Given the description of an element on the screen output the (x, y) to click on. 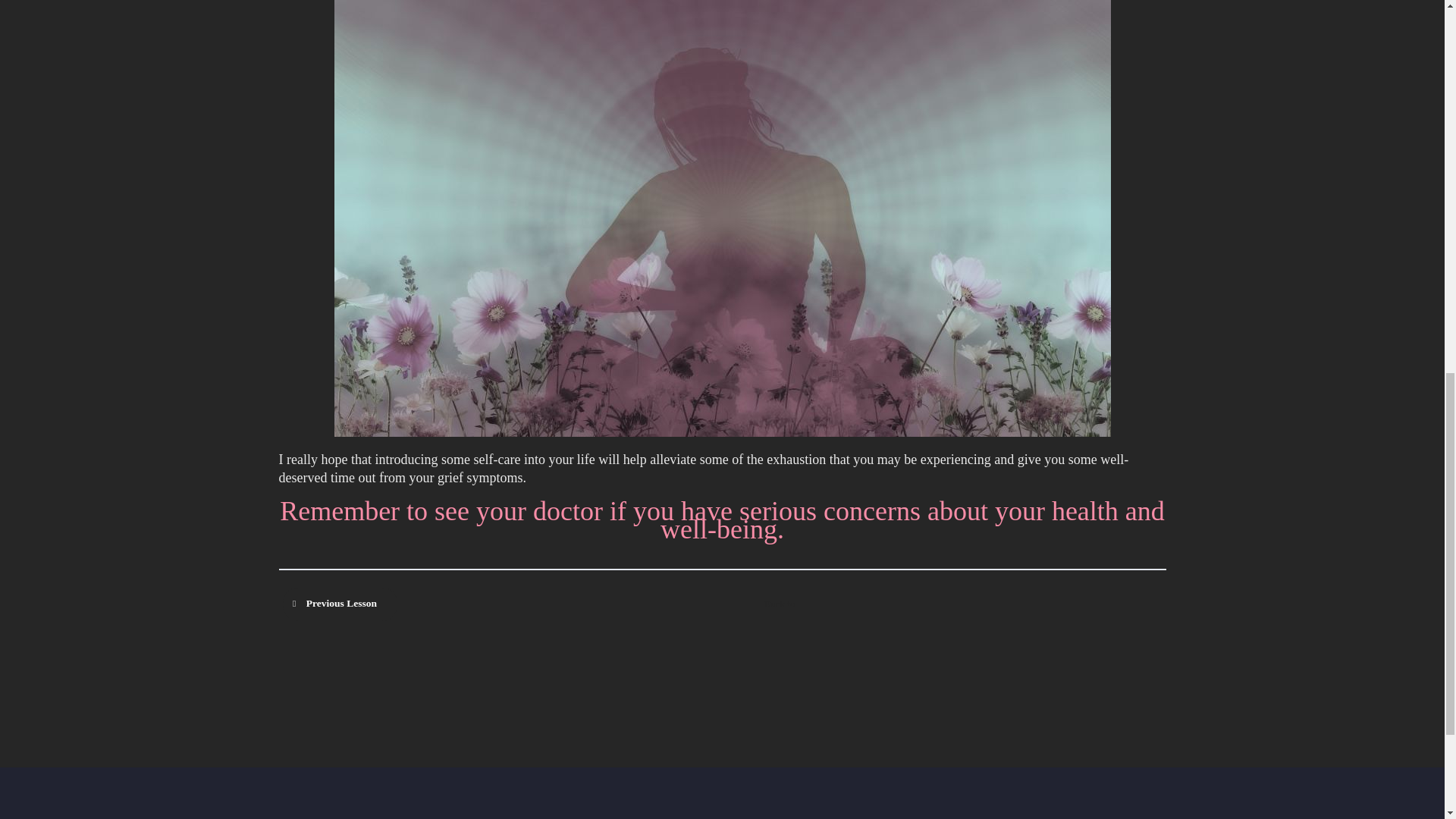
Previous Lesson (339, 604)
Back to (779, 604)
